Given the description of an element on the screen output the (x, y) to click on. 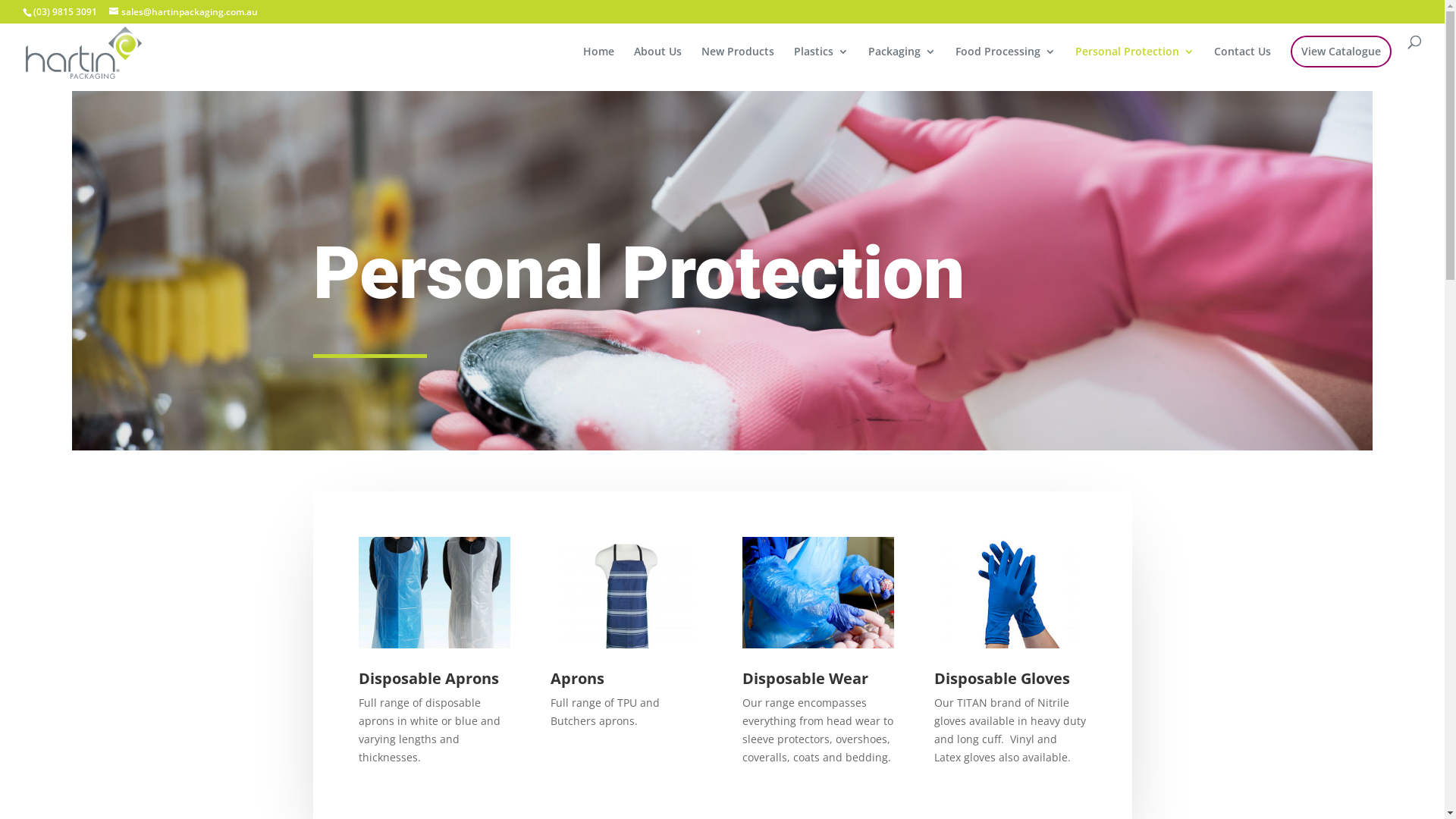
About Us Element type: text (657, 63)
Disposable Wear Element type: text (805, 678)
Personal Protection Element type: text (1134, 63)
sales@hartinpackaging.com.au Element type: text (183, 11)
Food Processing Element type: text (1005, 63)
New Products Element type: text (737, 63)
Aprons Element type: text (577, 678)
Disposable Gloves Element type: text (1002, 678)
Plastics Element type: text (820, 63)
(03) 9815 3091 Element type: text (65, 11)
Packaging Element type: text (901, 63)
Disposable Aprons Element type: text (427, 678)
Contact Us Element type: text (1242, 63)
View Catalogue Element type: text (1340, 51)
Home Element type: text (598, 63)
